Given the description of an element on the screen output the (x, y) to click on. 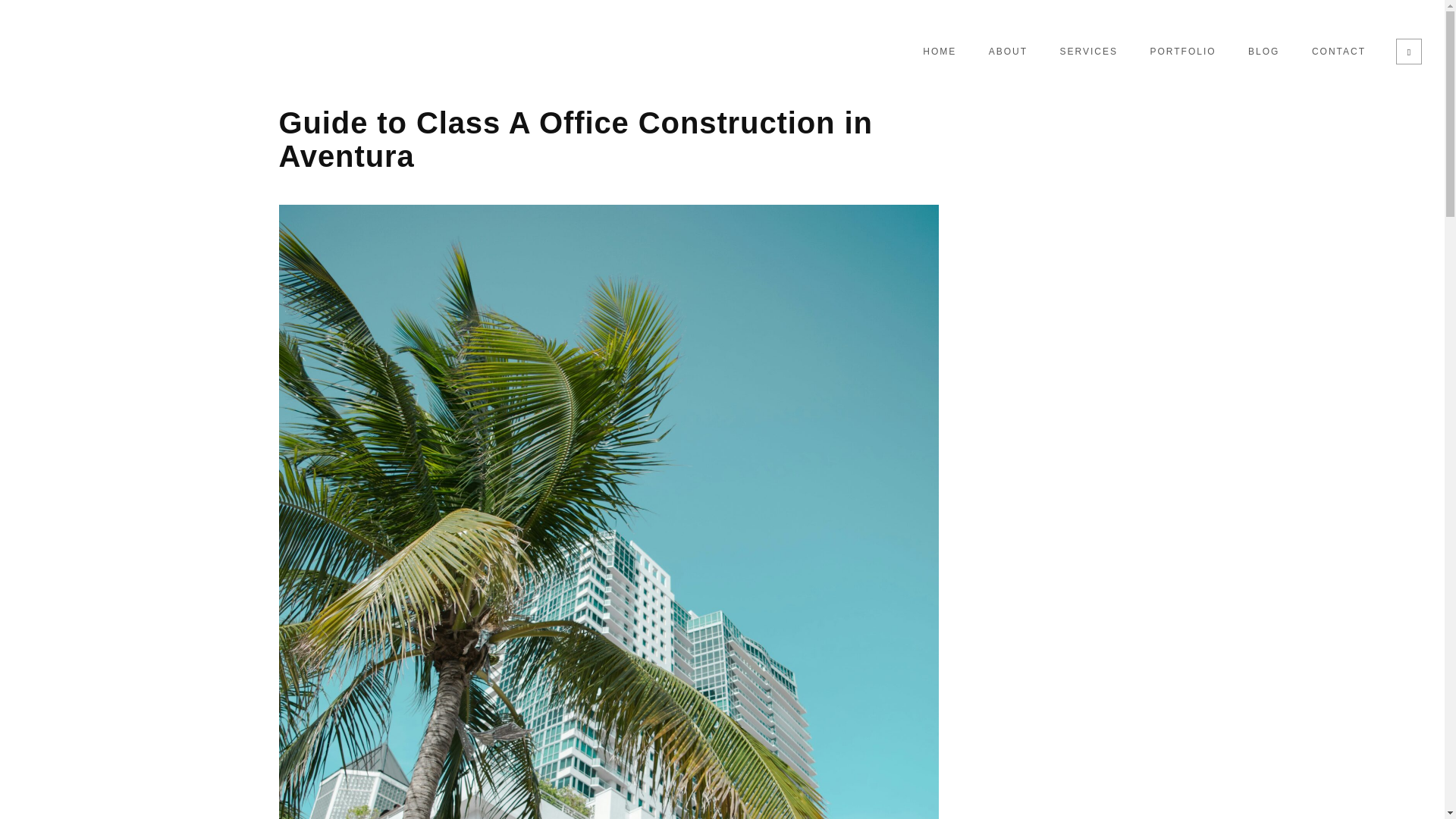
ABOUT (1007, 51)
HOME (939, 51)
SERVICES (1088, 51)
CONTACT (1338, 51)
BLOG (1263, 51)
PORTFOLIO (1182, 51)
